Given the description of an element on the screen output the (x, y) to click on. 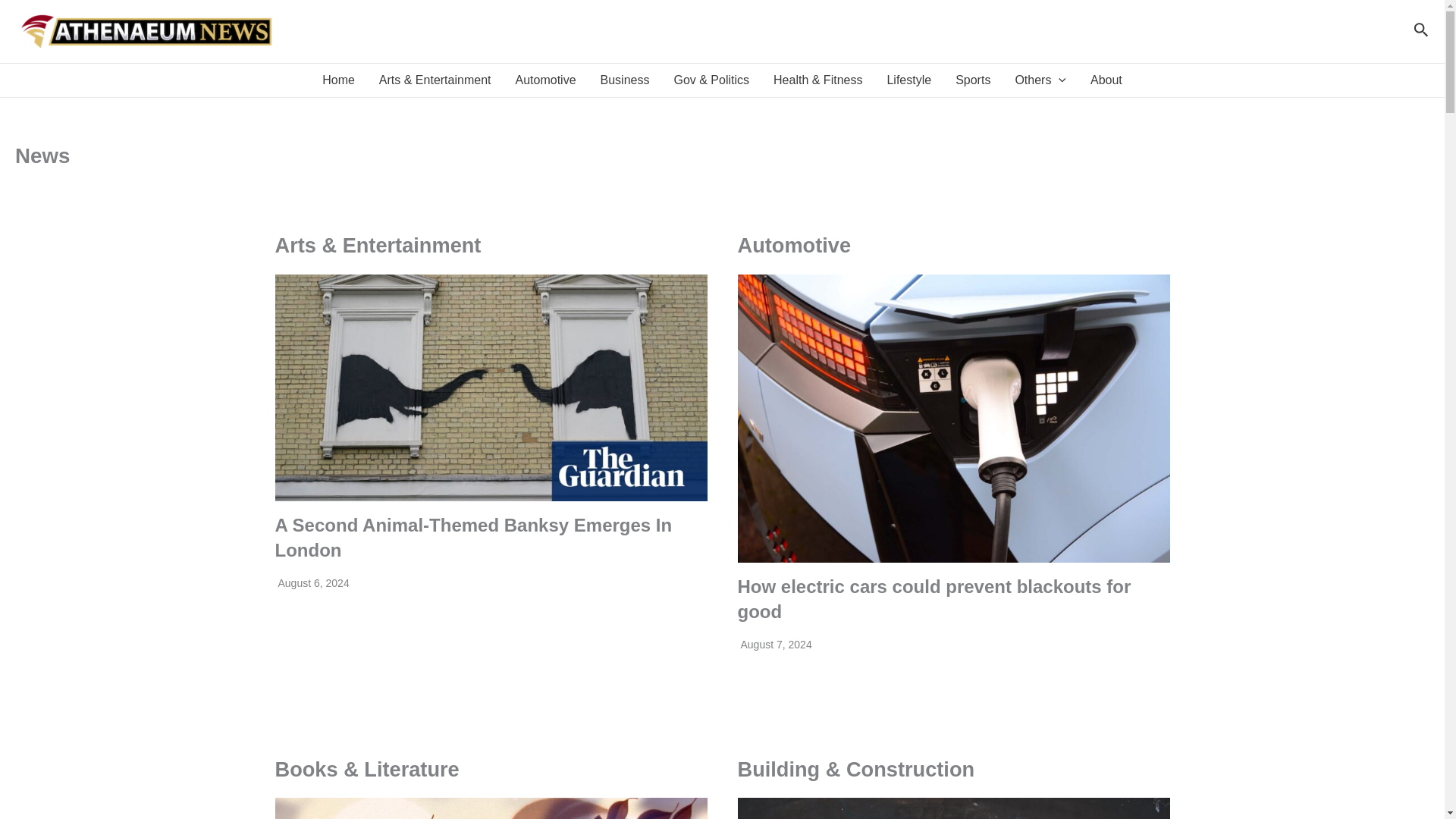
Sports (973, 80)
Others (1040, 80)
About (1106, 80)
Home (338, 80)
Business (625, 80)
Automotive (545, 80)
Lifestyle (909, 80)
